Given the description of an element on the screen output the (x, y) to click on. 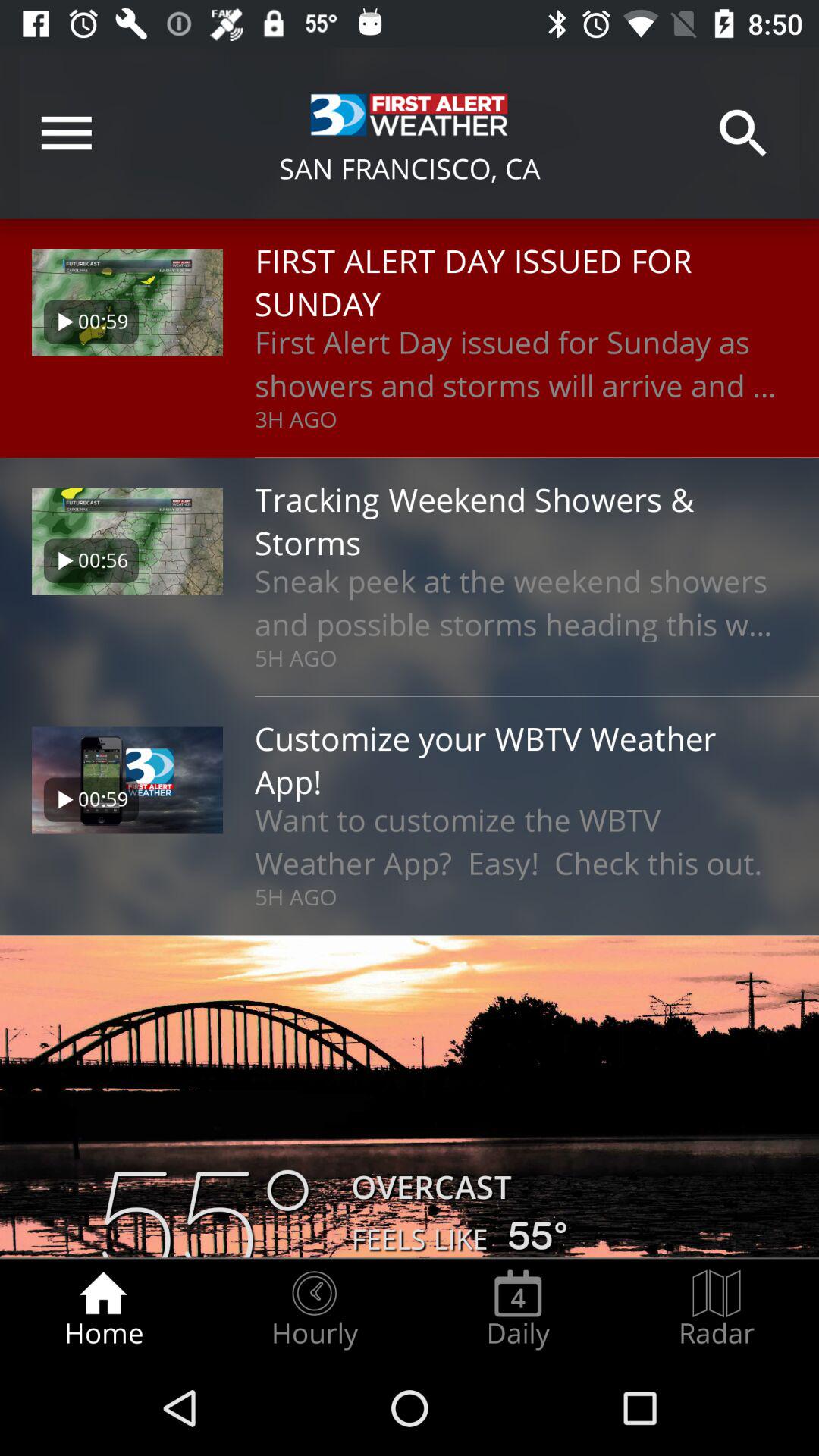
scroll until the radar icon (716, 1309)
